Given the description of an element on the screen output the (x, y) to click on. 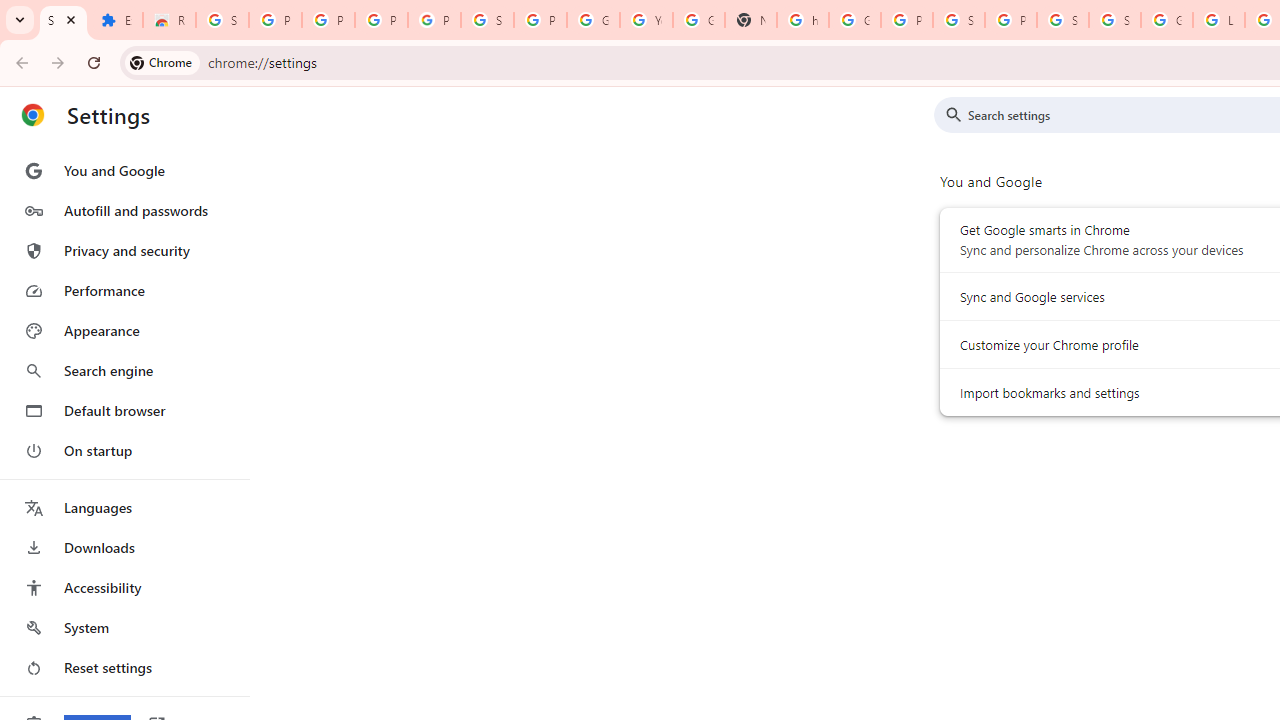
Sign in - Google Accounts (487, 20)
https://scholar.google.com/ (803, 20)
You and Google (124, 170)
New Tab (750, 20)
Reviews: Helix Fruit Jump Arcade Game (169, 20)
Search engine (124, 370)
Sign in - Google Accounts (1114, 20)
Downloads (124, 547)
